Given the description of an element on the screen output the (x, y) to click on. 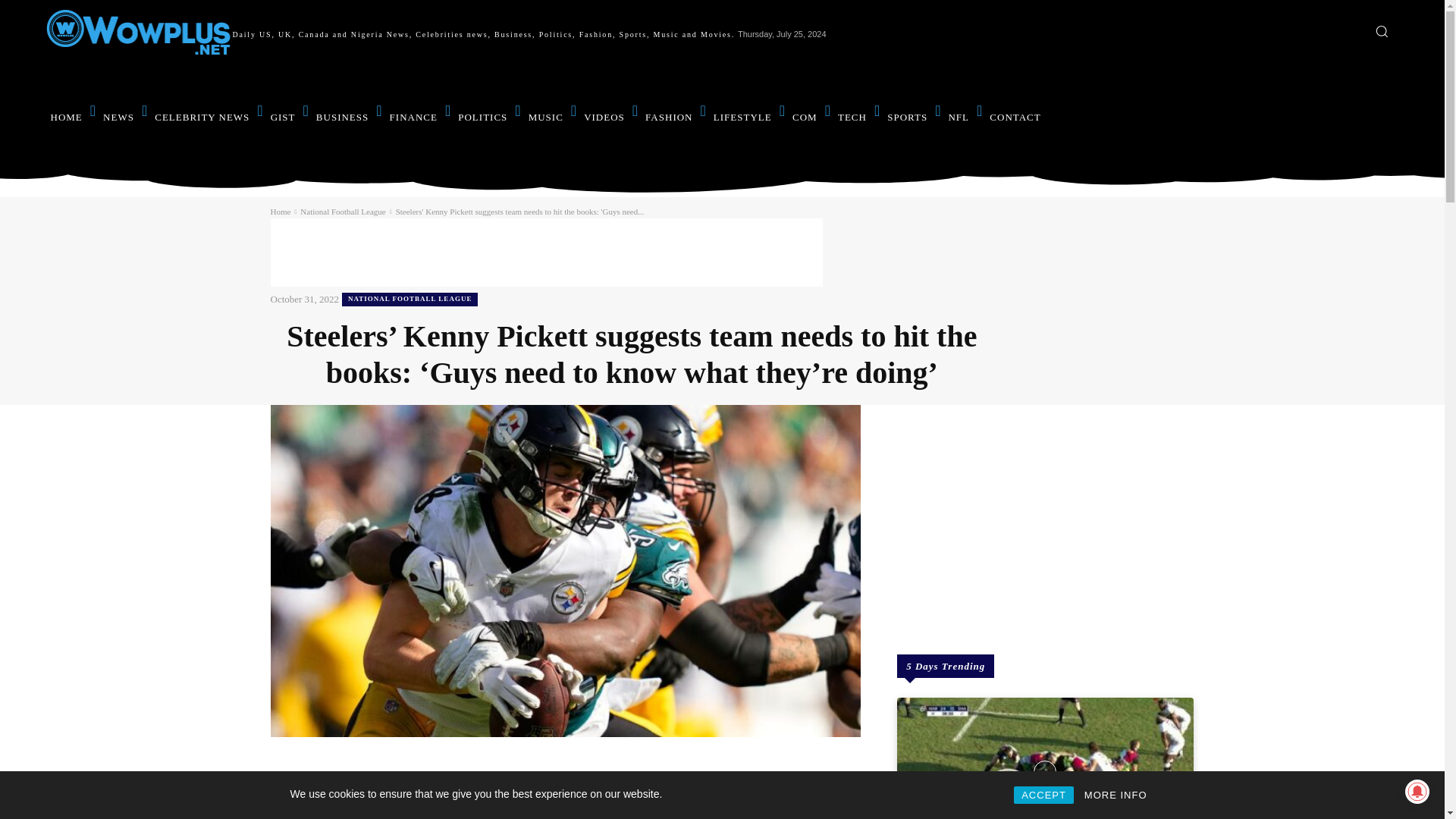
MORE INFO (1115, 794)
ACCEPT (1043, 794)
